Given the description of an element on the screen output the (x, y) to click on. 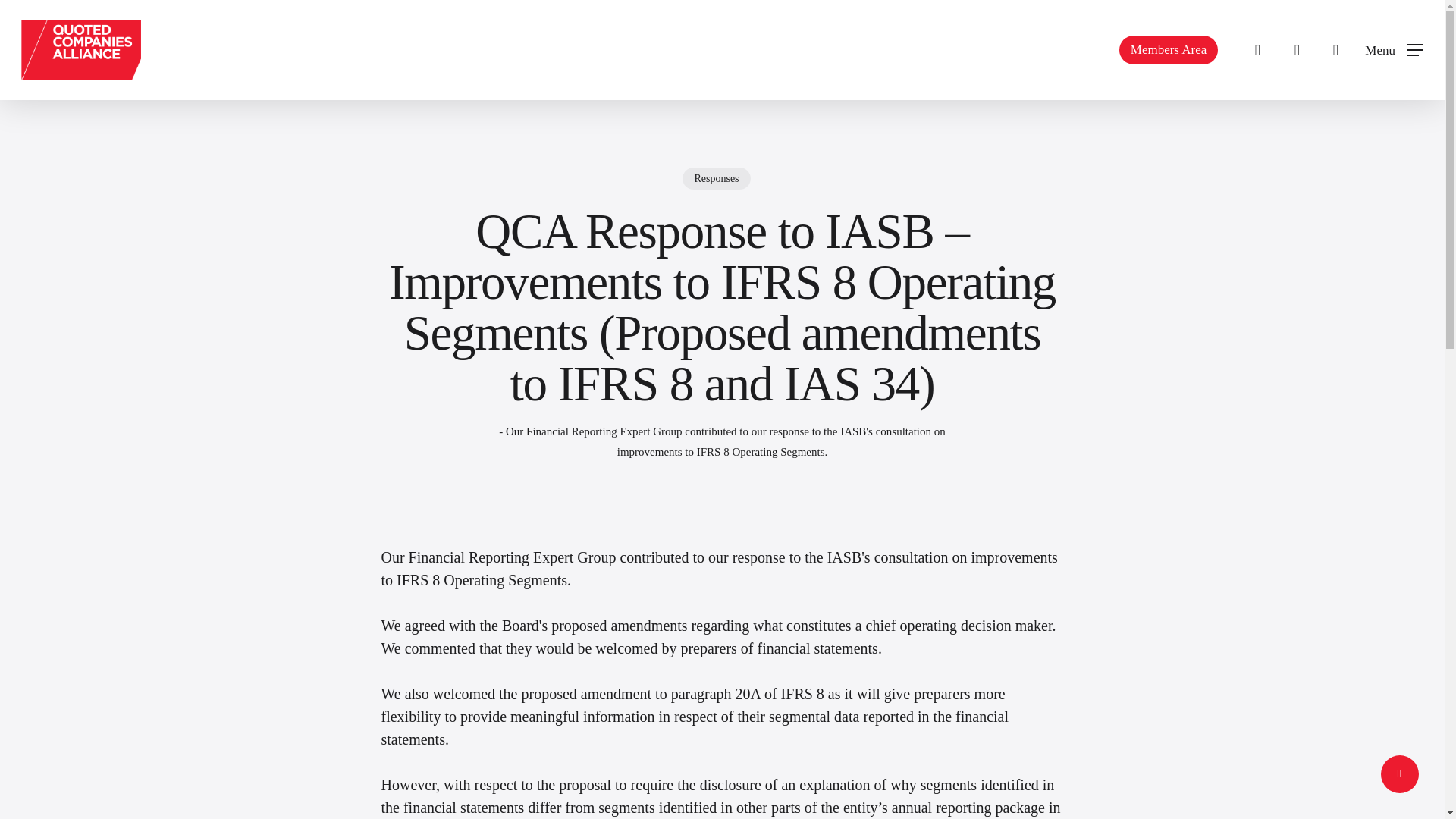
search (1256, 50)
Responses (715, 187)
Menu (1394, 50)
account (1296, 50)
Members Area (1168, 49)
